Given the description of an element on the screen output the (x, y) to click on. 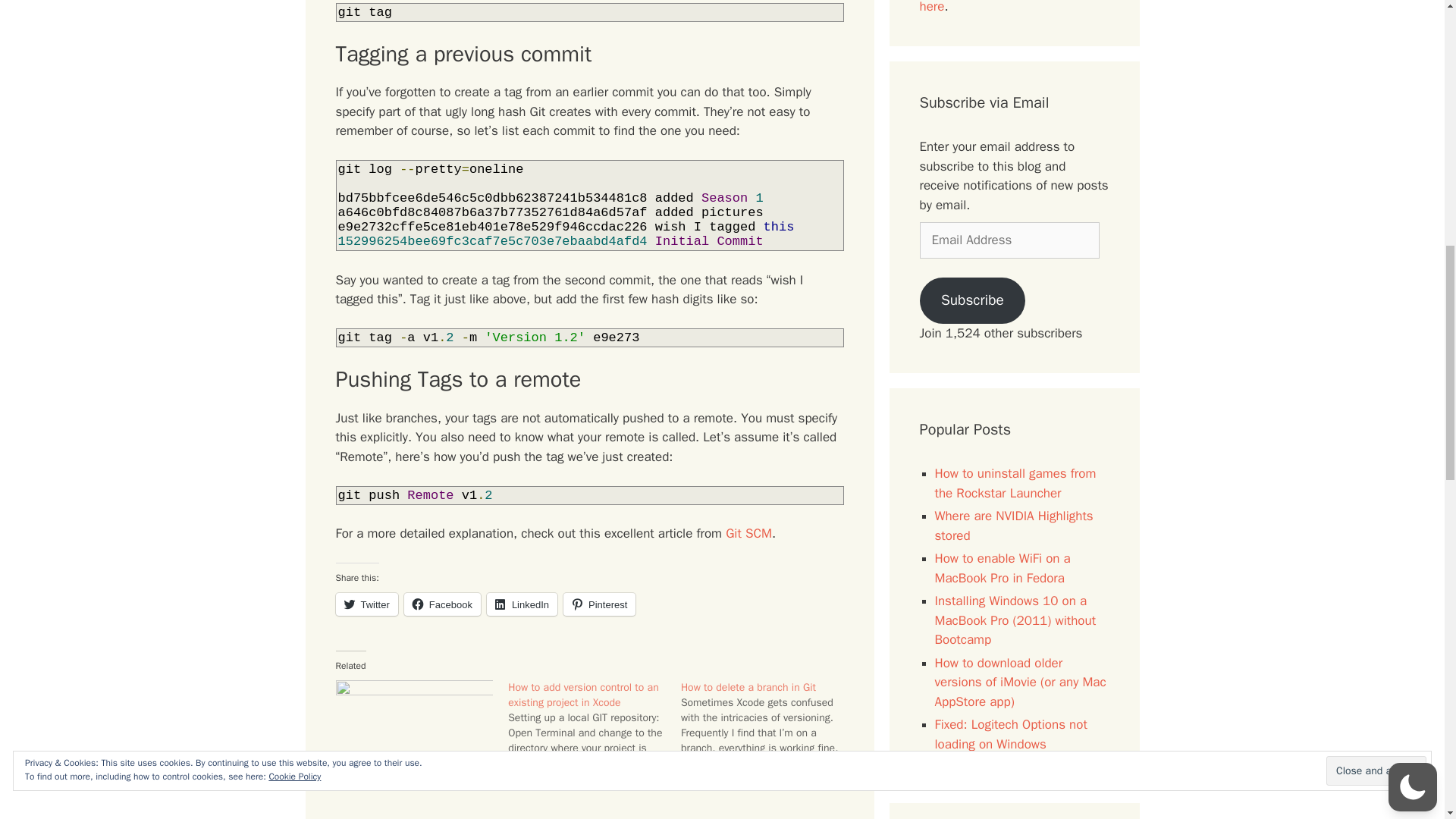
How to use Git Tags in Xcode (413, 725)
How to delete a branch in Git (748, 686)
How to add version control to an existing project in Xcode (583, 694)
Click to share on LinkedIn (521, 603)
How to use Git Tags in Xcode (402, 777)
Click to share on Twitter (365, 603)
Click to share on Facebook (442, 603)
How to add version control to an existing project in Xcode (594, 733)
How to delete a branch in Git (767, 725)
Click to share on Pinterest (598, 603)
